Given the description of an element on the screen output the (x, y) to click on. 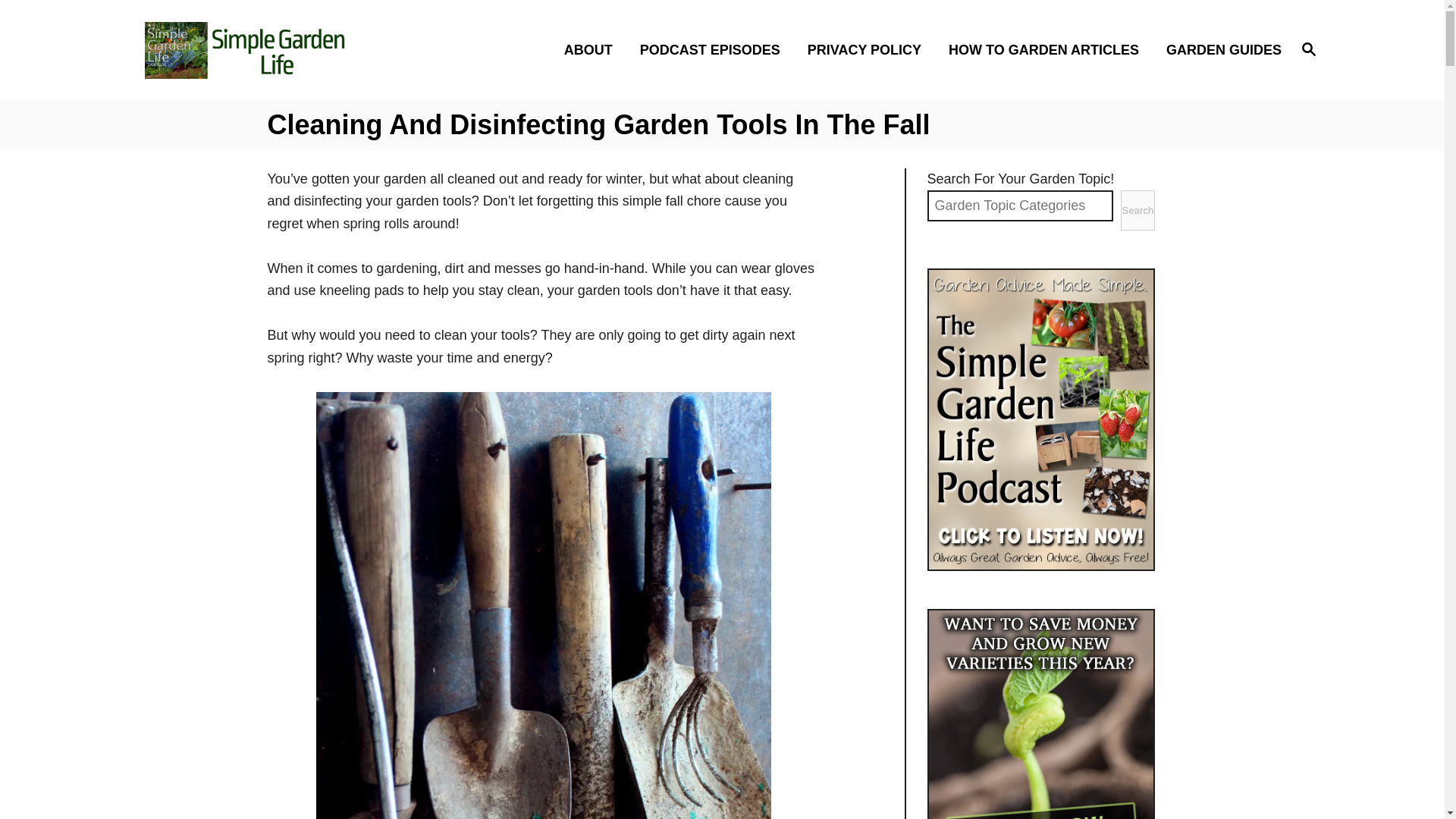
PODCAST EPISODES (713, 49)
ABOUT (592, 49)
GARDEN GUIDES (1308, 49)
Simple Garden Life (1219, 49)
PRIVACY POLICY (285, 49)
HOW TO GARDEN ARTICLES (868, 49)
Magnifying Glass (1048, 49)
